Given the description of an element on the screen output the (x, y) to click on. 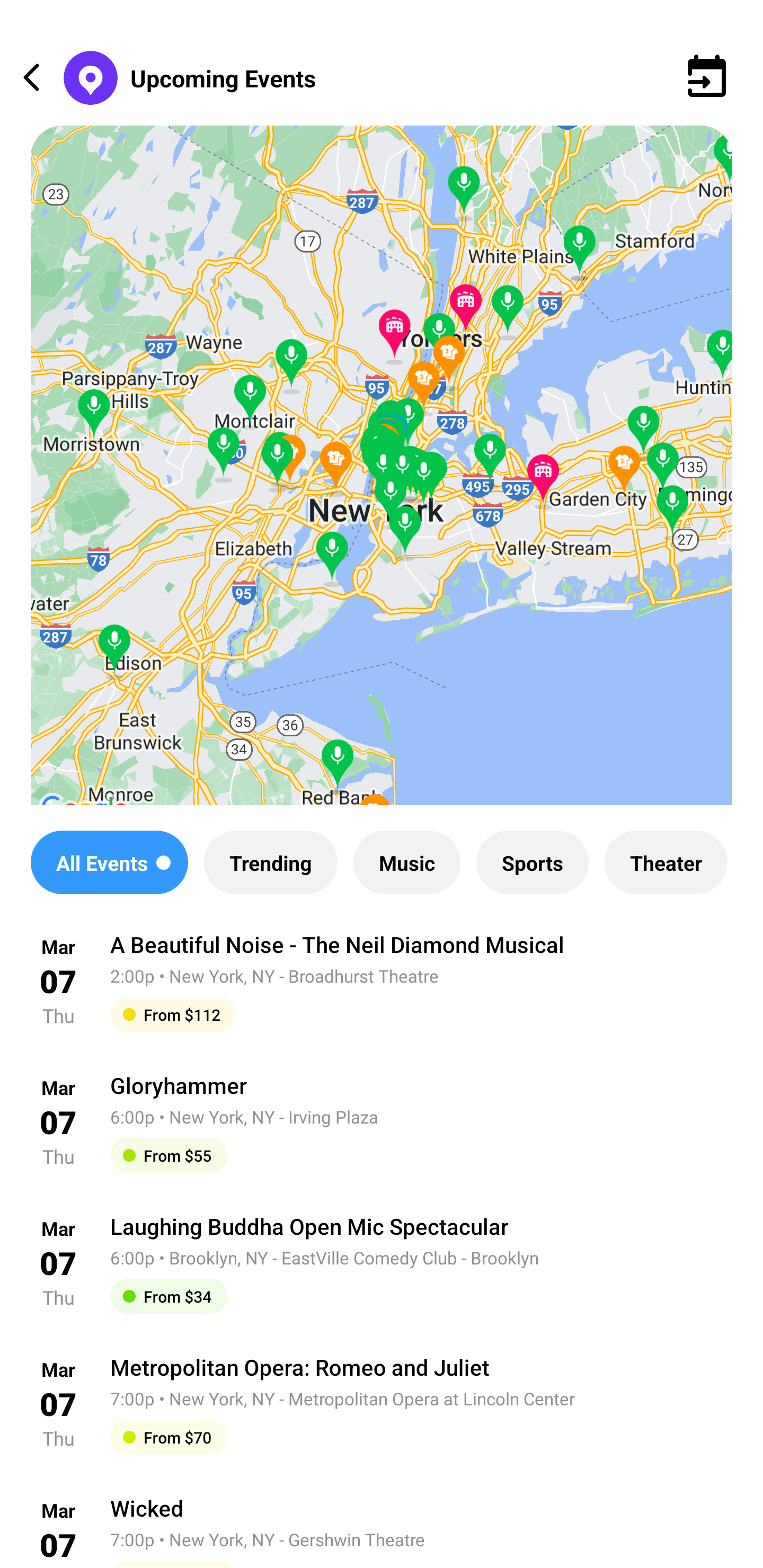
All Events (109, 862)
Trending (270, 862)
Music (406, 862)
Sports (532, 862)
Theater (665, 862)
